Given the description of an element on the screen output the (x, y) to click on. 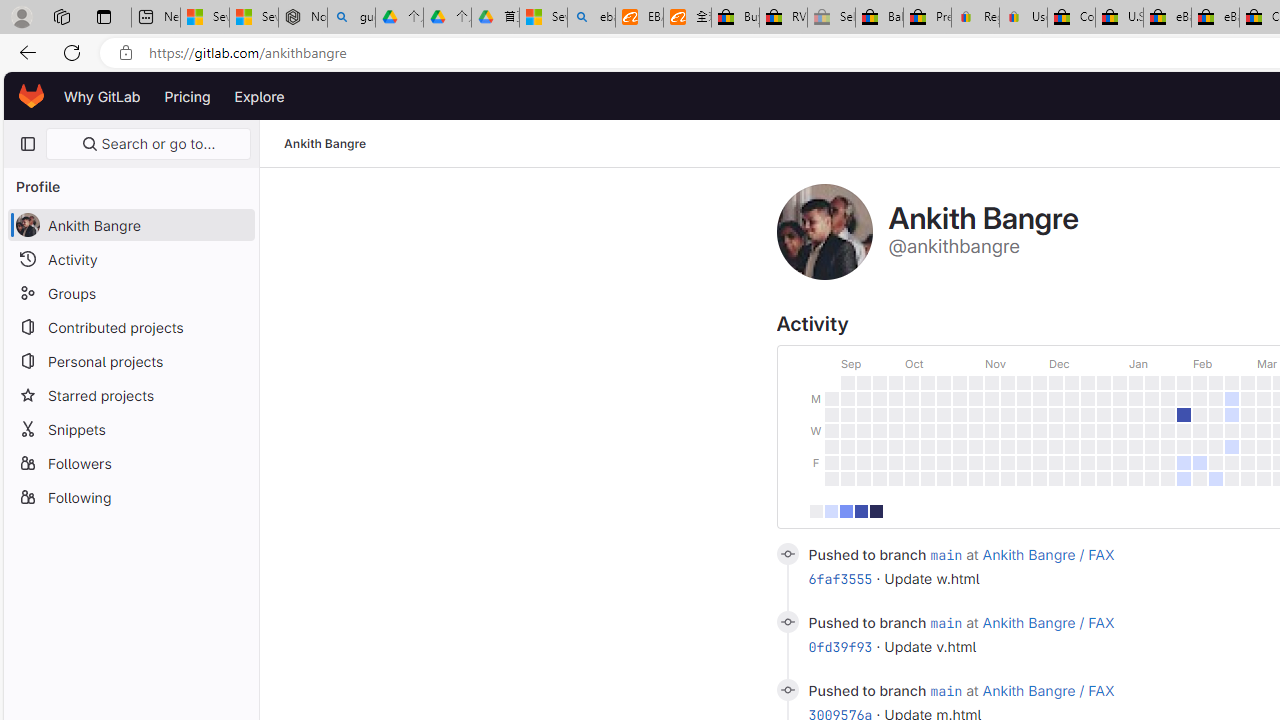
Workspaces (61, 16)
0fd39f93 (839, 646)
Register: Create a personal eBay account (975, 17)
Followers (130, 462)
